Given the description of an element on the screen output the (x, y) to click on. 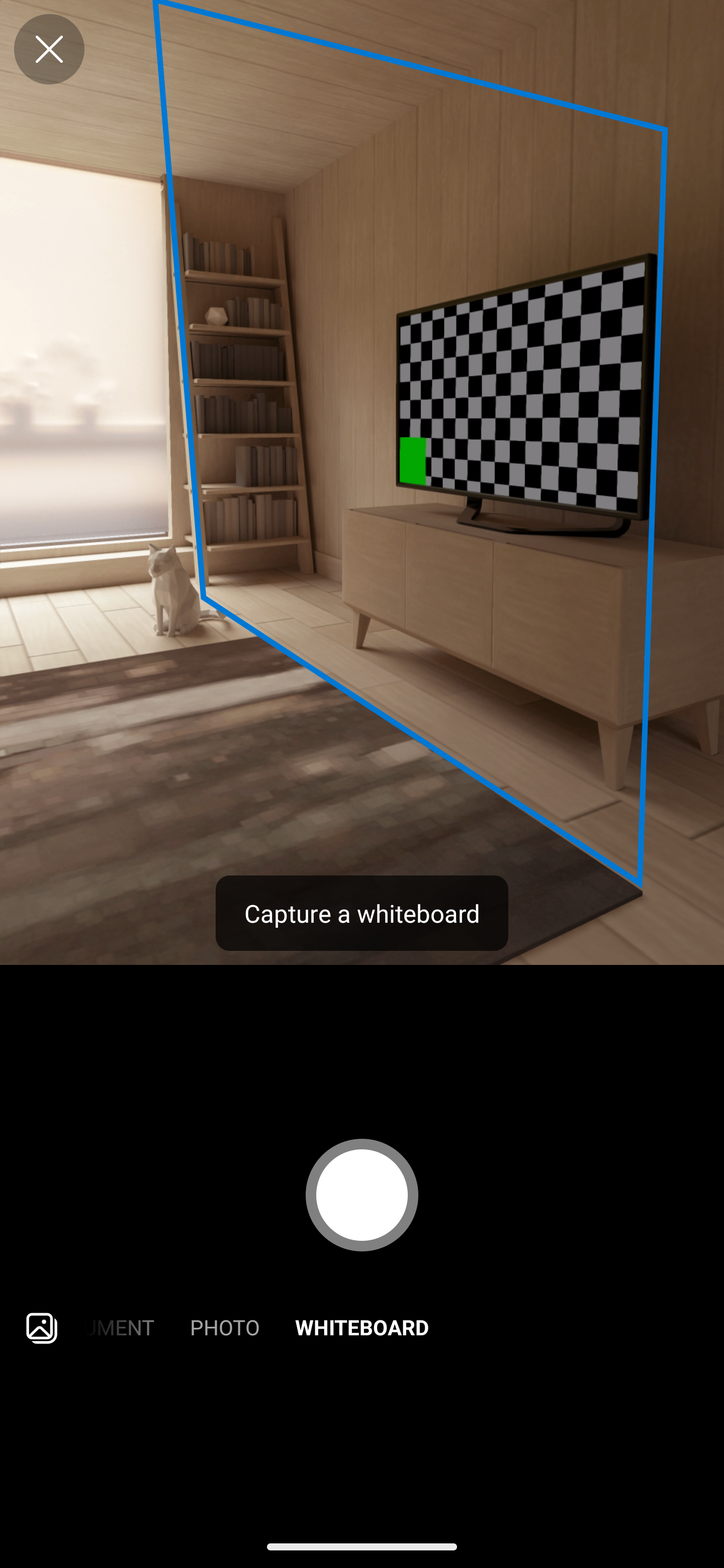
Close (49, 49)
Capture (361, 1194)
Import (42, 1328)
DOCUMENT (126, 1328)
PHOTO (224, 1328)
WHITEBOARD (361, 1328)
